Given the description of an element on the screen output the (x, y) to click on. 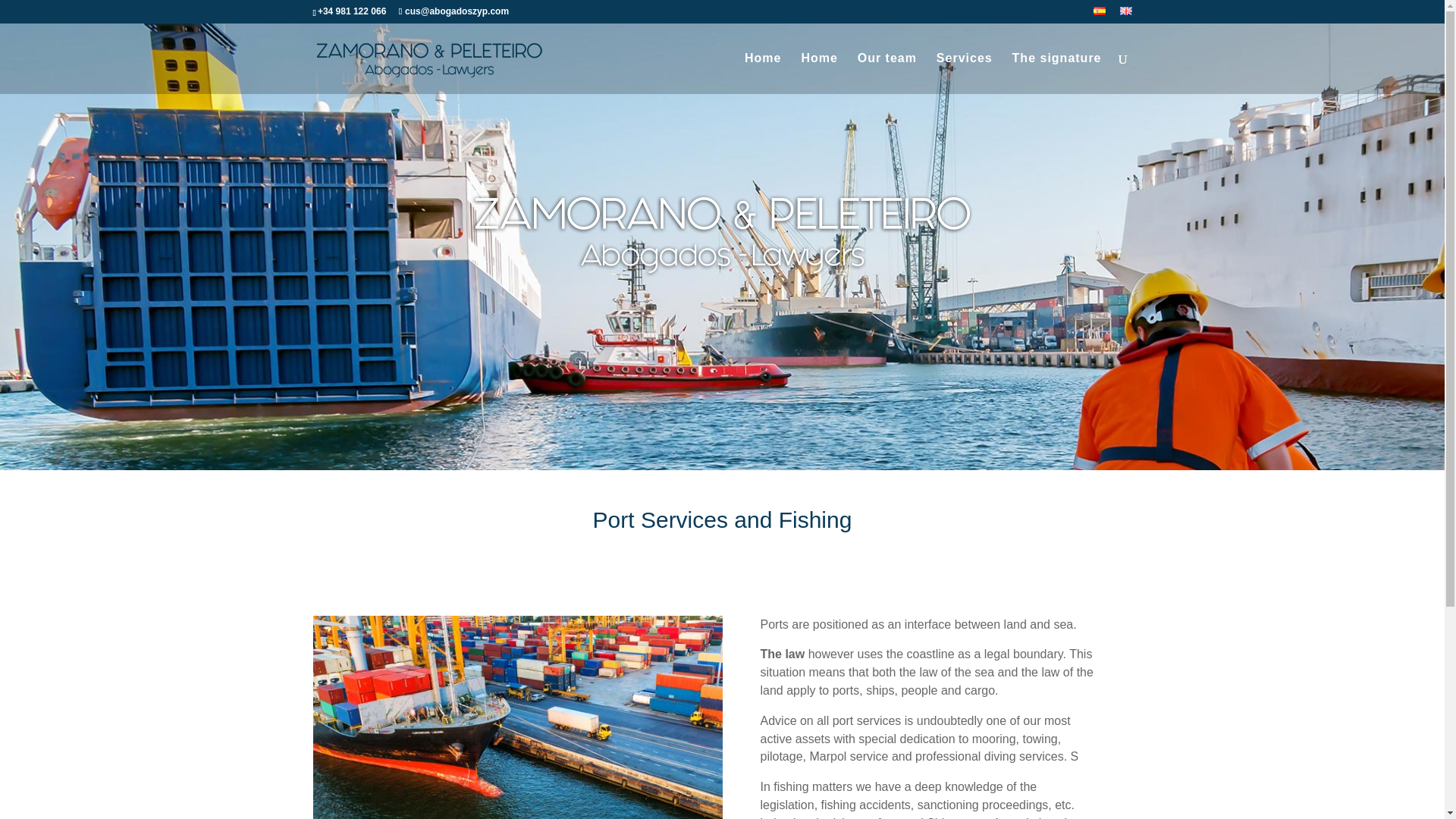
Our team (887, 73)
The signature (1056, 73)
Home (762, 73)
Services (964, 73)
